Given the description of an element on the screen output the (x, y) to click on. 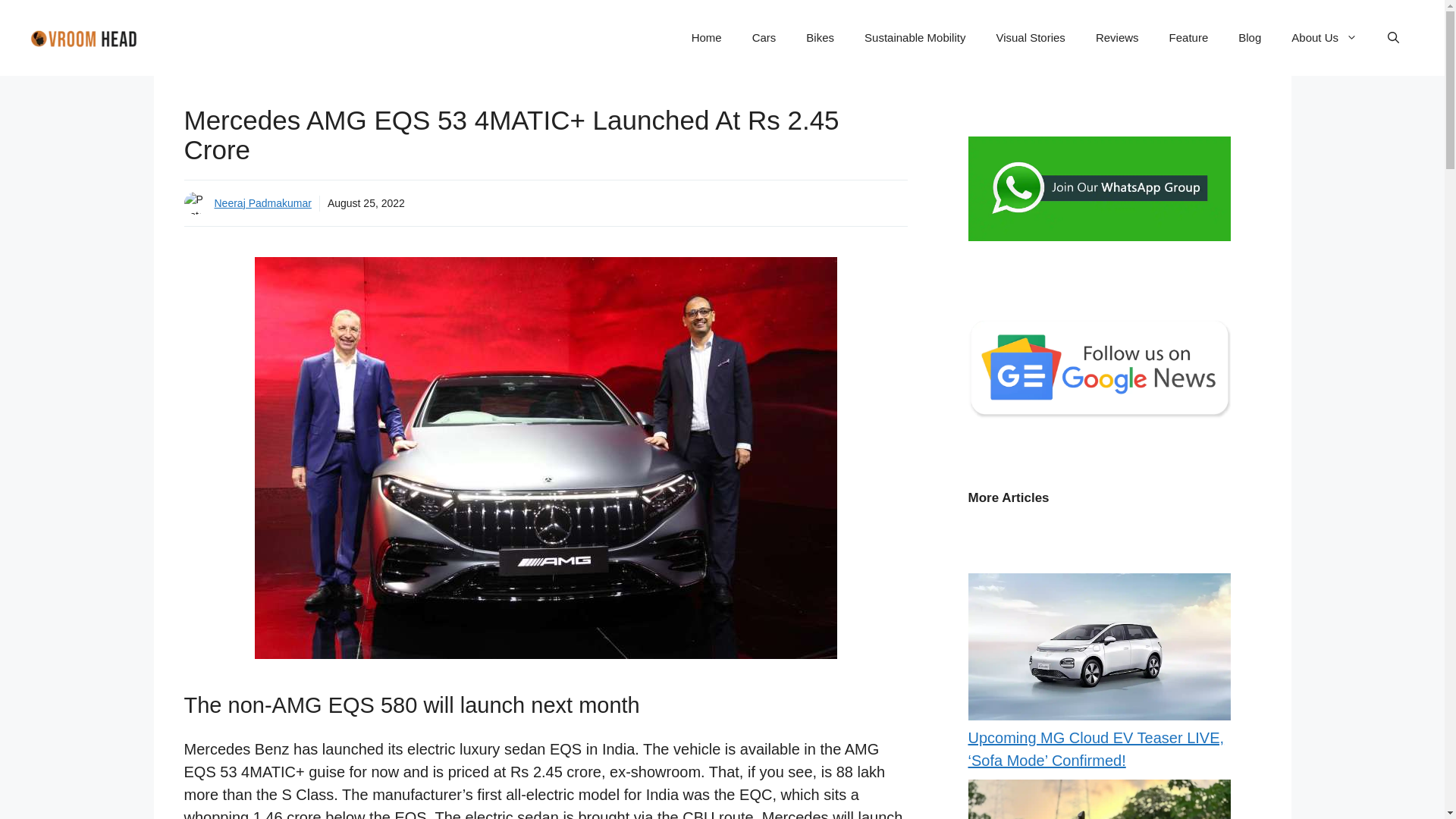
Cars (764, 37)
Neeraj Padmakumar (262, 203)
Sustainable Mobility (913, 37)
Blog (1249, 37)
About Us (1324, 37)
Visual Stories (1029, 37)
Feature (1189, 37)
Home (706, 37)
Reviews (1117, 37)
Bikes (819, 37)
